Given the description of an element on the screen output the (x, y) to click on. 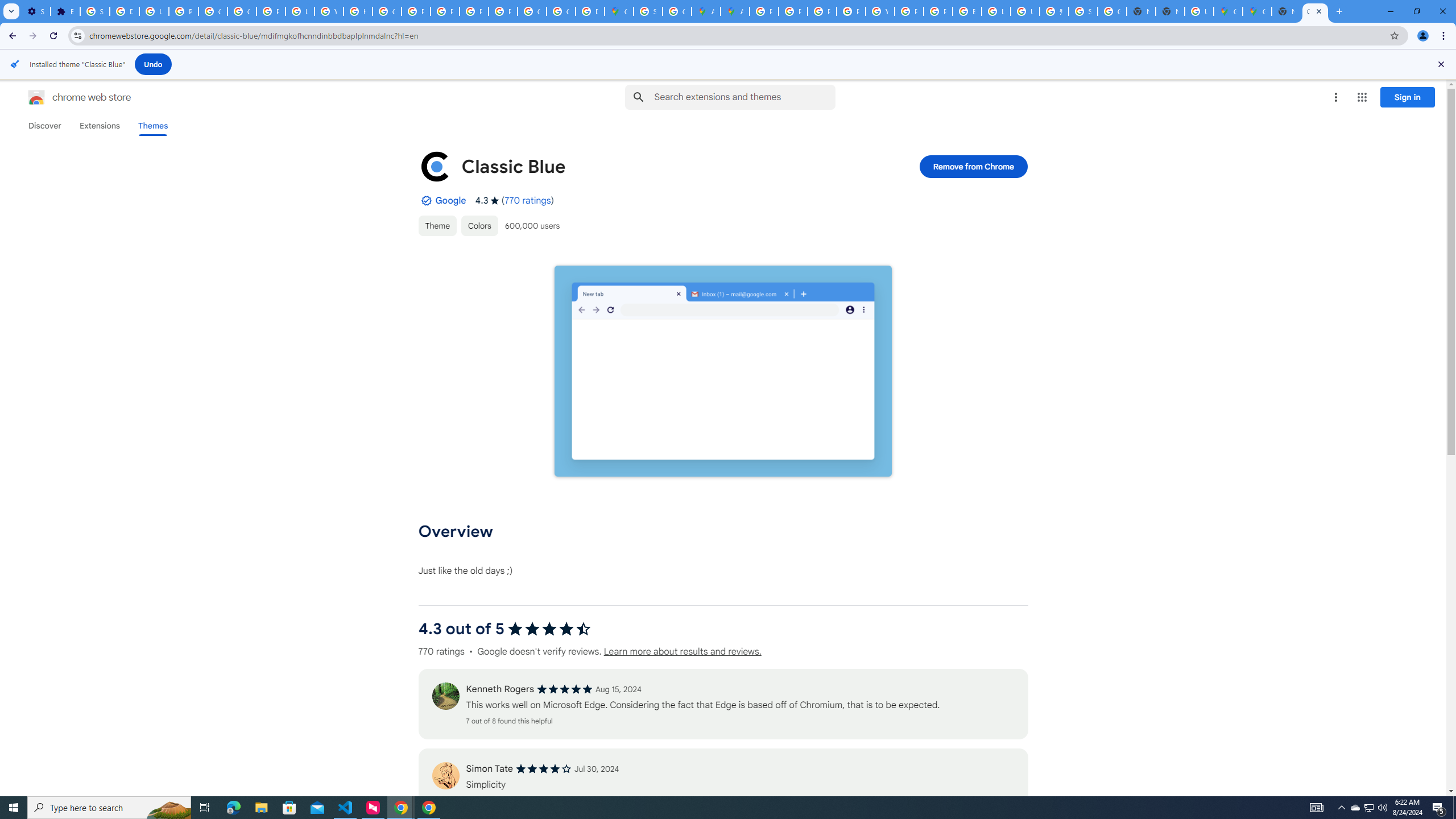
Themes (152, 125)
Theme (437, 225)
5 out of 5 stars (563, 689)
Settings - On startup (35, 11)
Google Maps (1256, 11)
Sign in - Google Accounts (648, 11)
Extensions (99, 125)
Review's profile picture (445, 776)
New Tab (1169, 11)
